Given the description of an element on the screen output the (x, y) to click on. 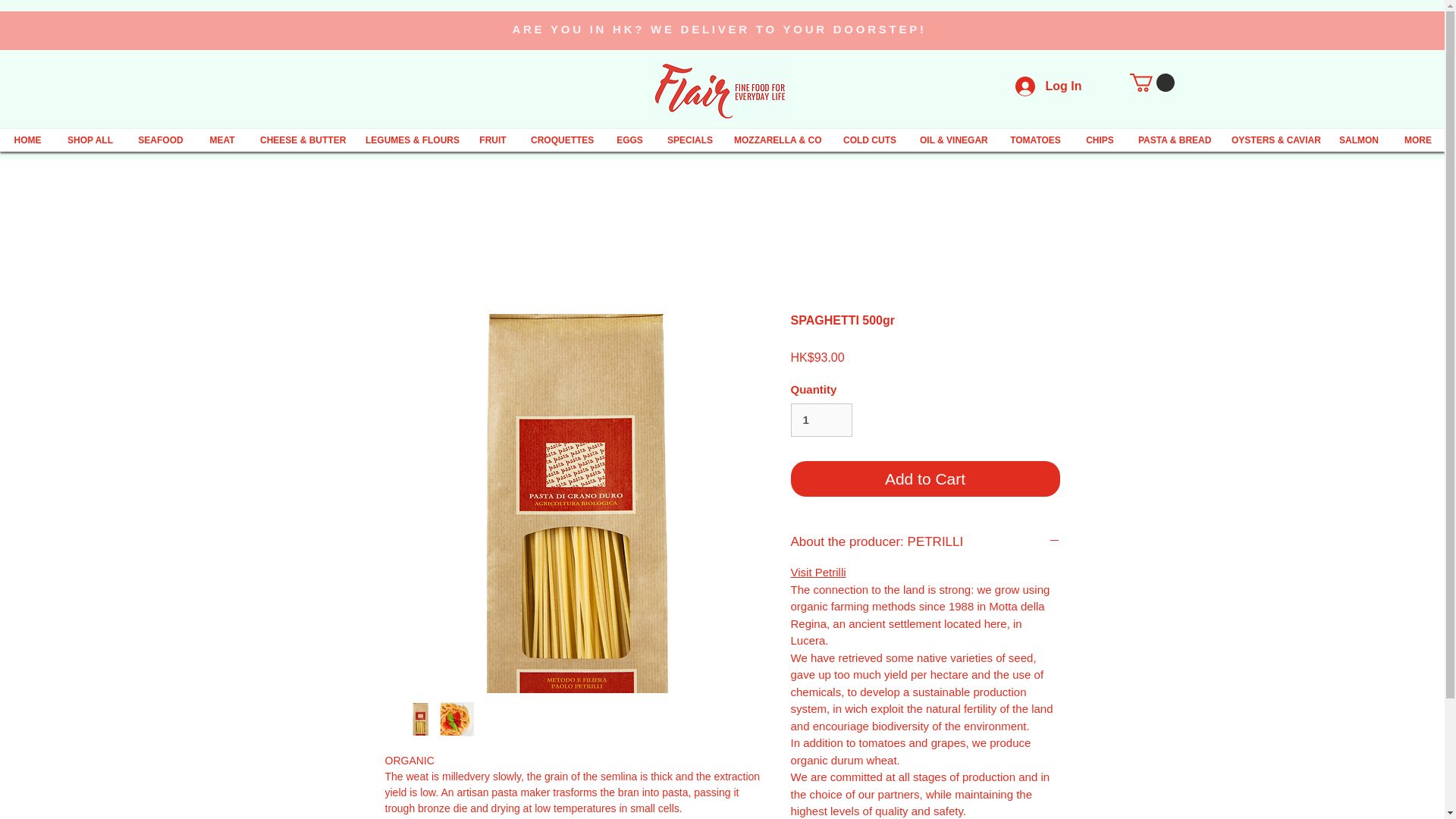
SALMON (1358, 139)
TOMATOES (1035, 139)
1 (820, 419)
HOME (27, 139)
CROQUETTES (561, 139)
SPECIALS (688, 139)
EGGS (629, 139)
FRUIT (492, 139)
COLD CUTS (869, 139)
SHOP ALL (90, 139)
MEAT (221, 139)
CHIPS (1099, 139)
Log In (1048, 86)
SEAFOOD (160, 139)
